Given the description of an element on the screen output the (x, y) to click on. 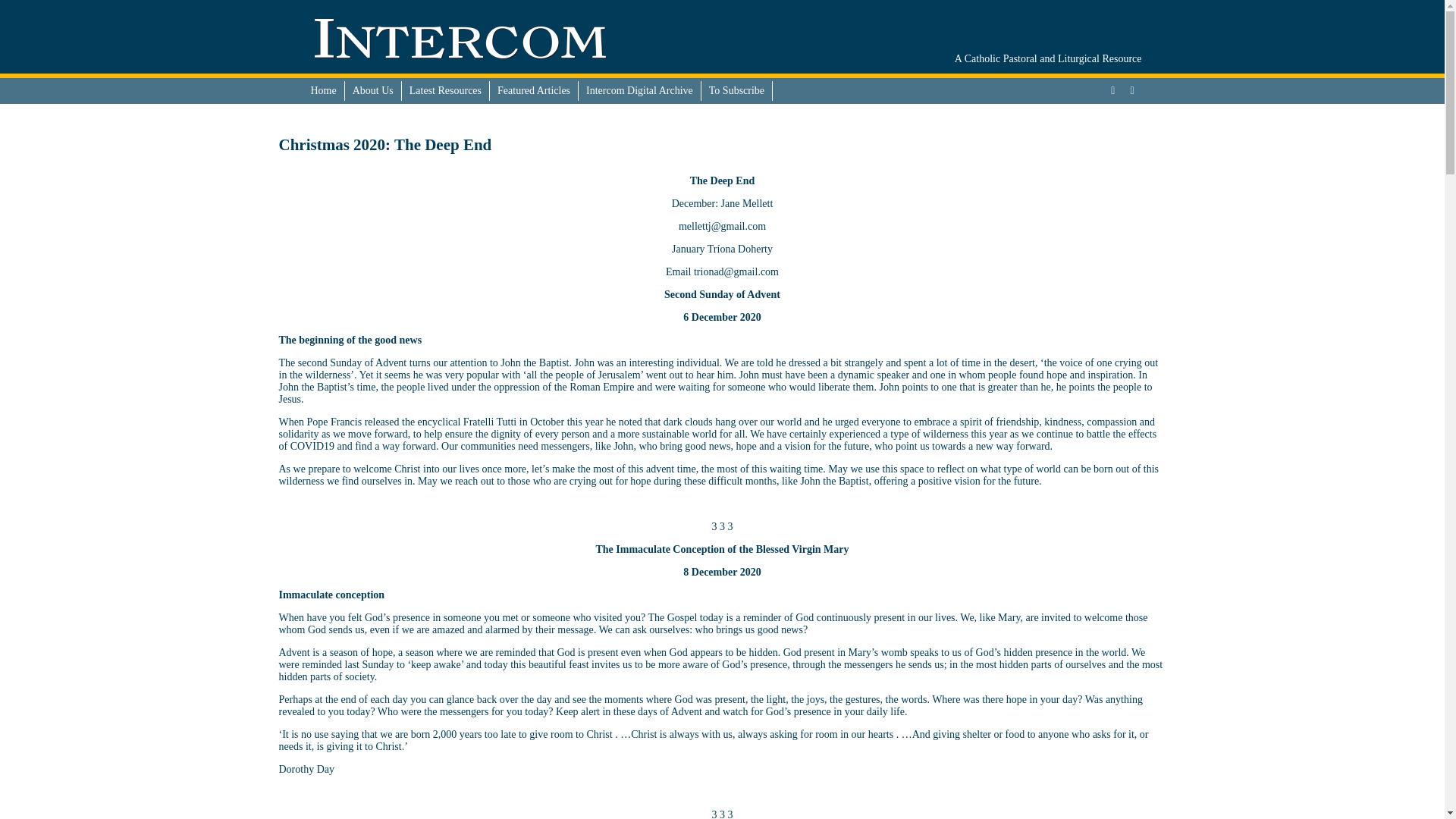
To Subscribe (737, 90)
Latest Resources (445, 90)
About Us (373, 90)
Intercom Digital Archive (639, 90)
Featured Articles (533, 90)
Home (323, 90)
